Given the description of an element on the screen output the (x, y) to click on. 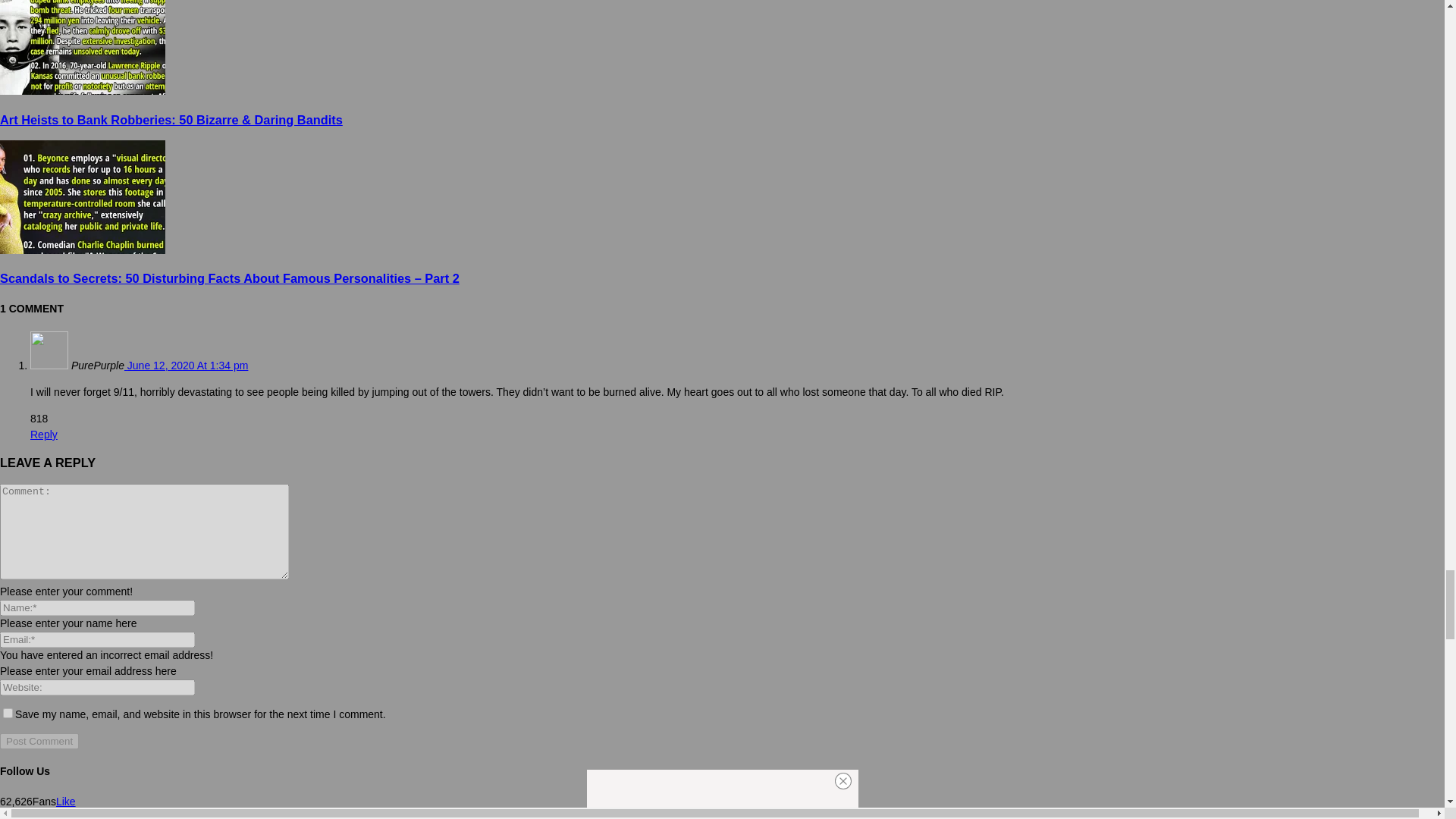
Post Comment (39, 741)
yes (7, 713)
